Given the description of an element on the screen output the (x, y) to click on. 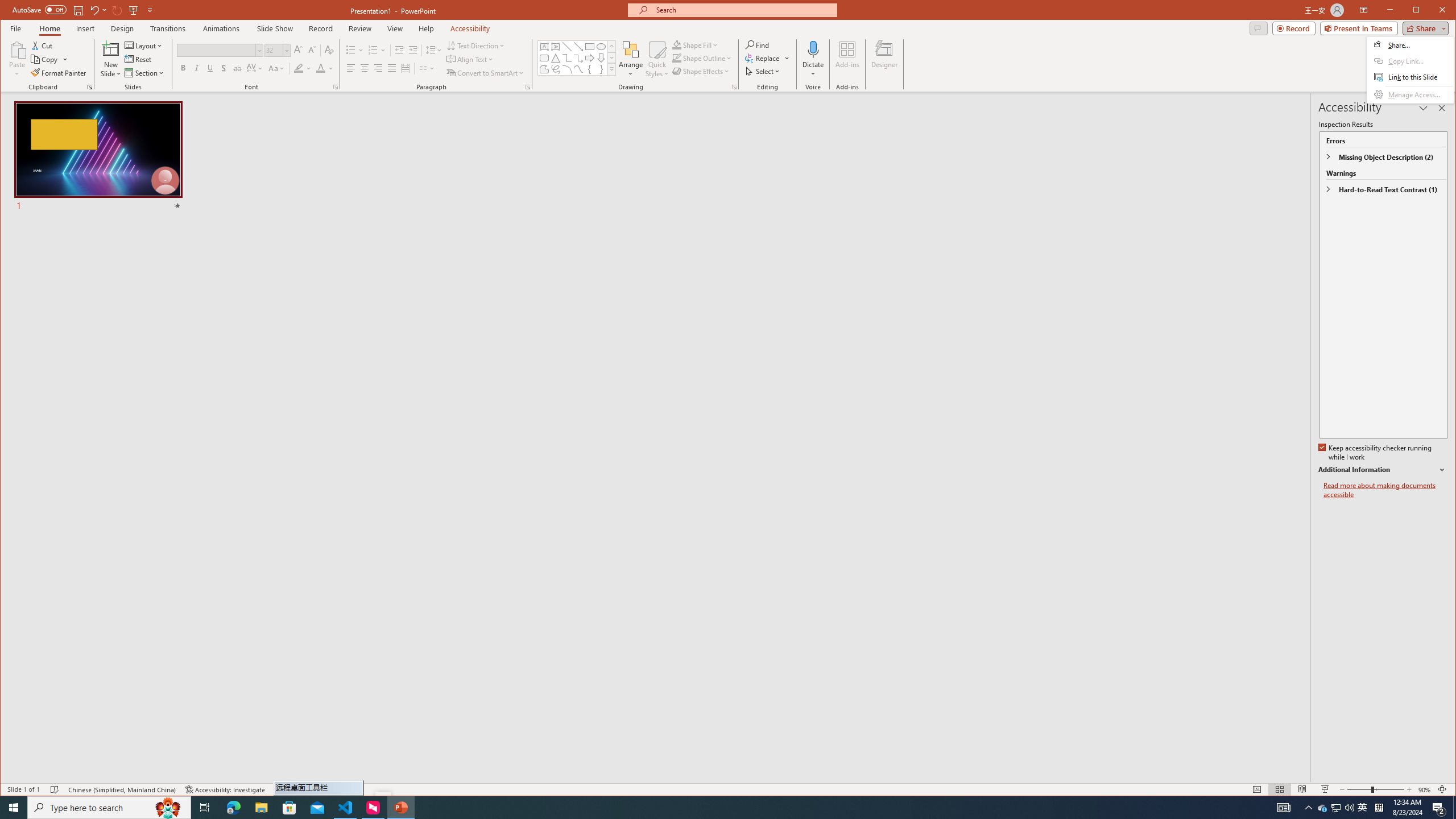
Change Case (276, 68)
Left Brace (589, 69)
Running applications (700, 807)
Quick Styles (658, 59)
Center (364, 68)
Reset (138, 59)
